Given the description of an element on the screen output the (x, y) to click on. 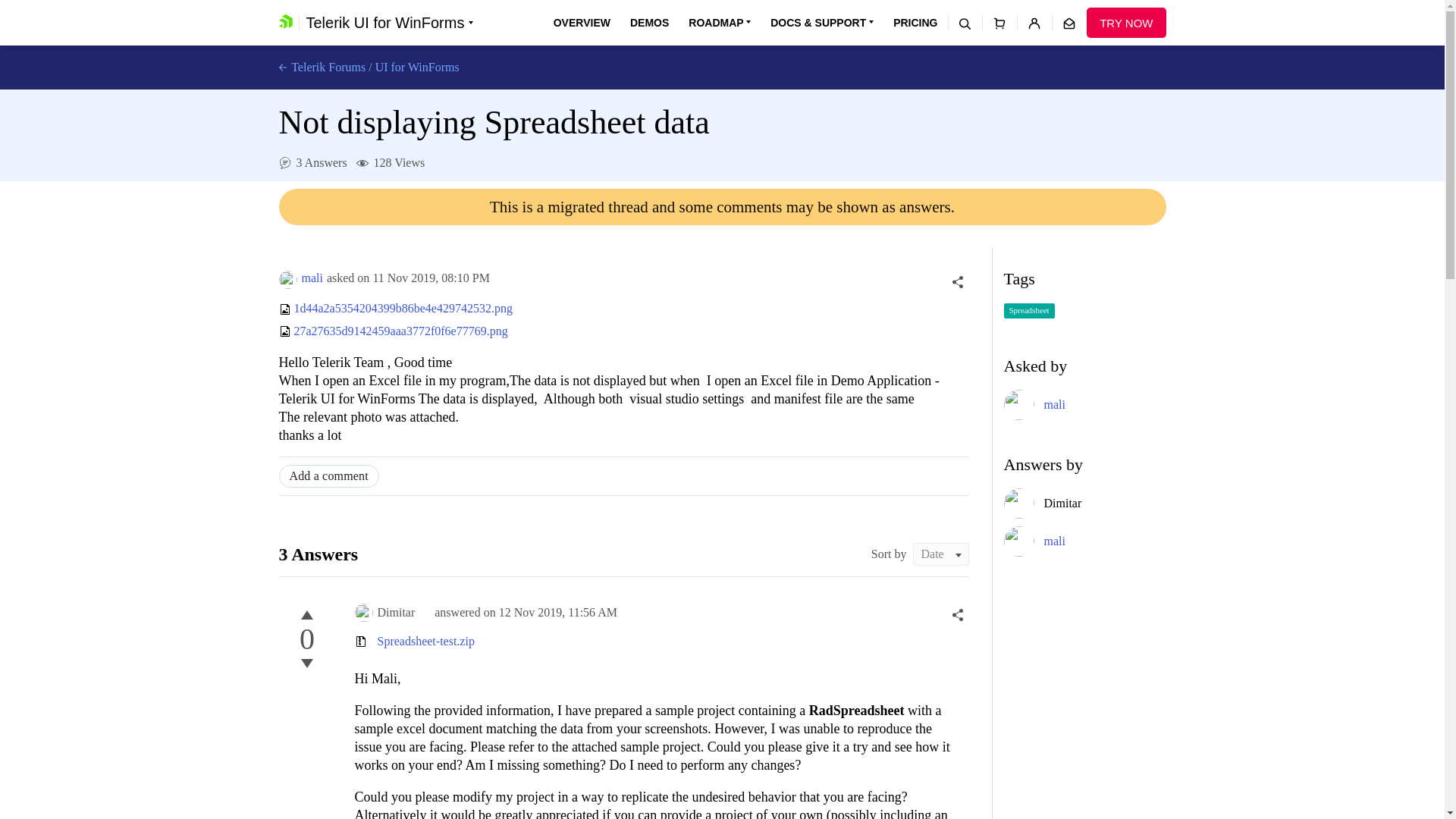
SKIP NAVIGATION (339, 7)
Telerik UI for WinForms (389, 22)
Spreadsheet (1029, 310)
OVERVIEW (581, 22)
ROADMAP (719, 22)
